Given the description of an element on the screen output the (x, y) to click on. 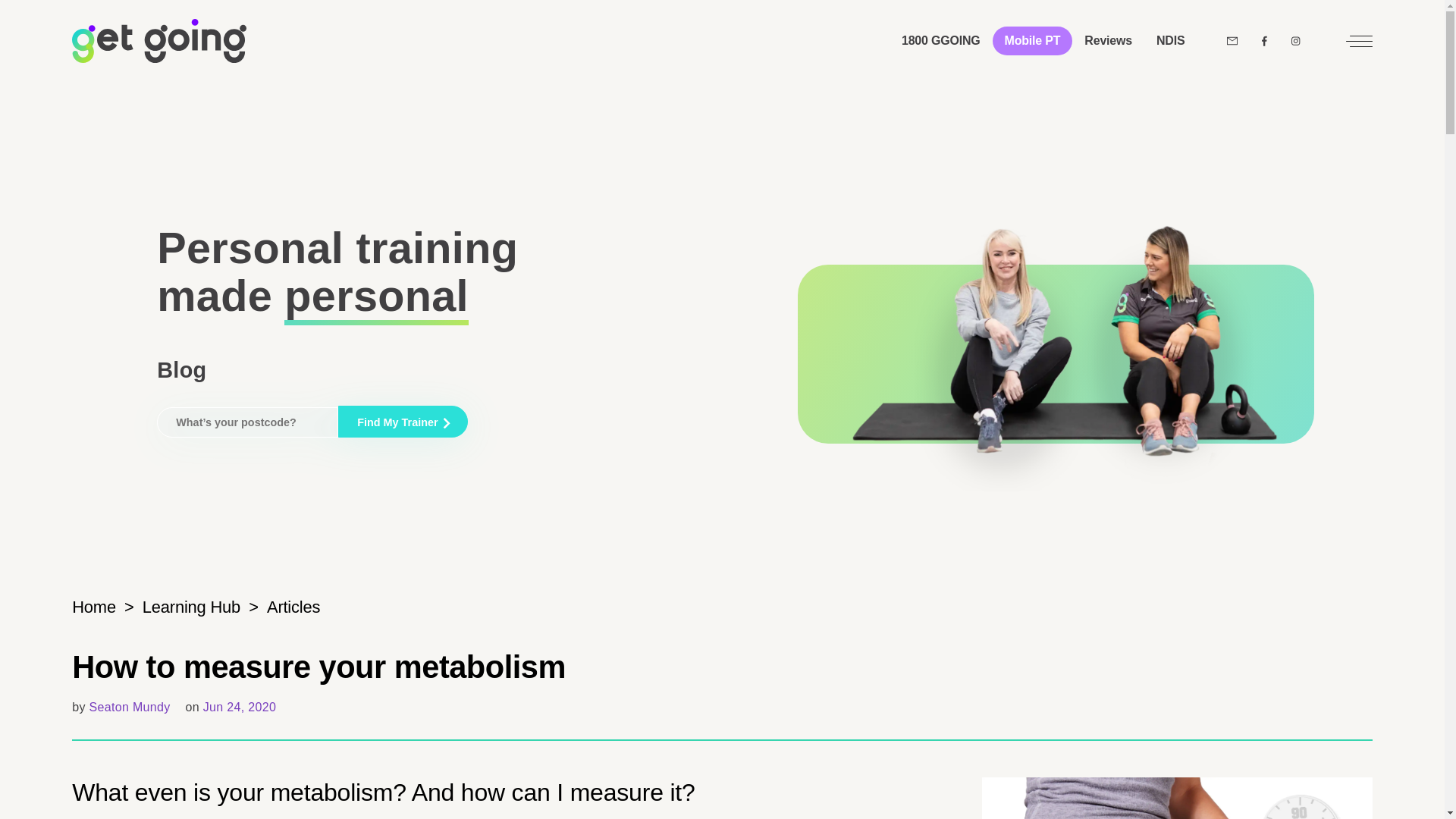
Find My Trainer (402, 421)
Mobile PT (1032, 40)
Learning Hub (191, 607)
Home (93, 607)
1800 GGOING (940, 40)
Reviews (1107, 40)
Articles (293, 607)
NDIS (1170, 40)
